Given the description of an element on the screen output the (x, y) to click on. 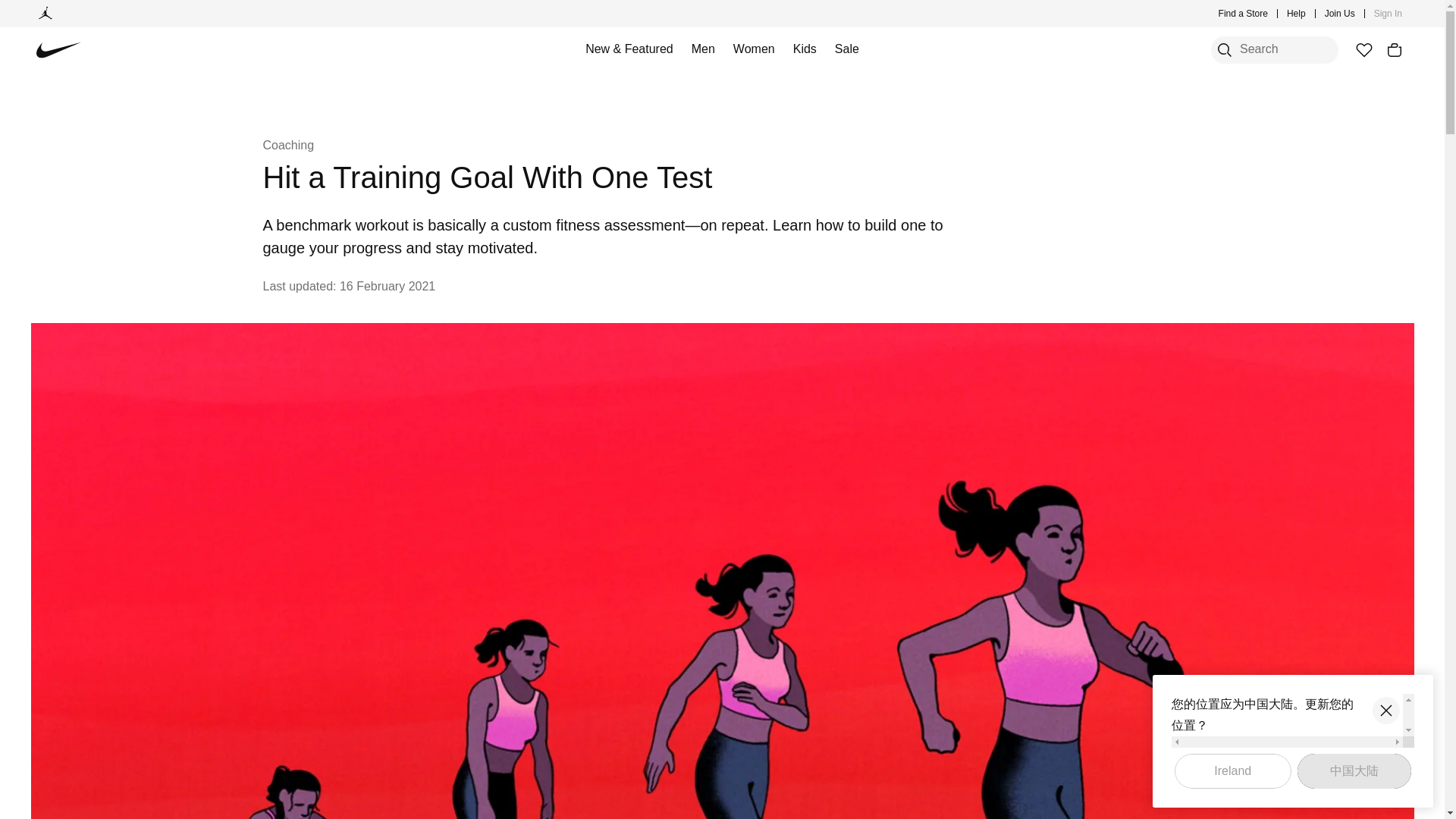
Join Us (1339, 13)
Find a Store (1243, 13)
Help (1296, 13)
Sign In (1388, 13)
Favourites (1364, 49)
Bag Items: 0 (1393, 49)
